Given the description of an element on the screen output the (x, y) to click on. 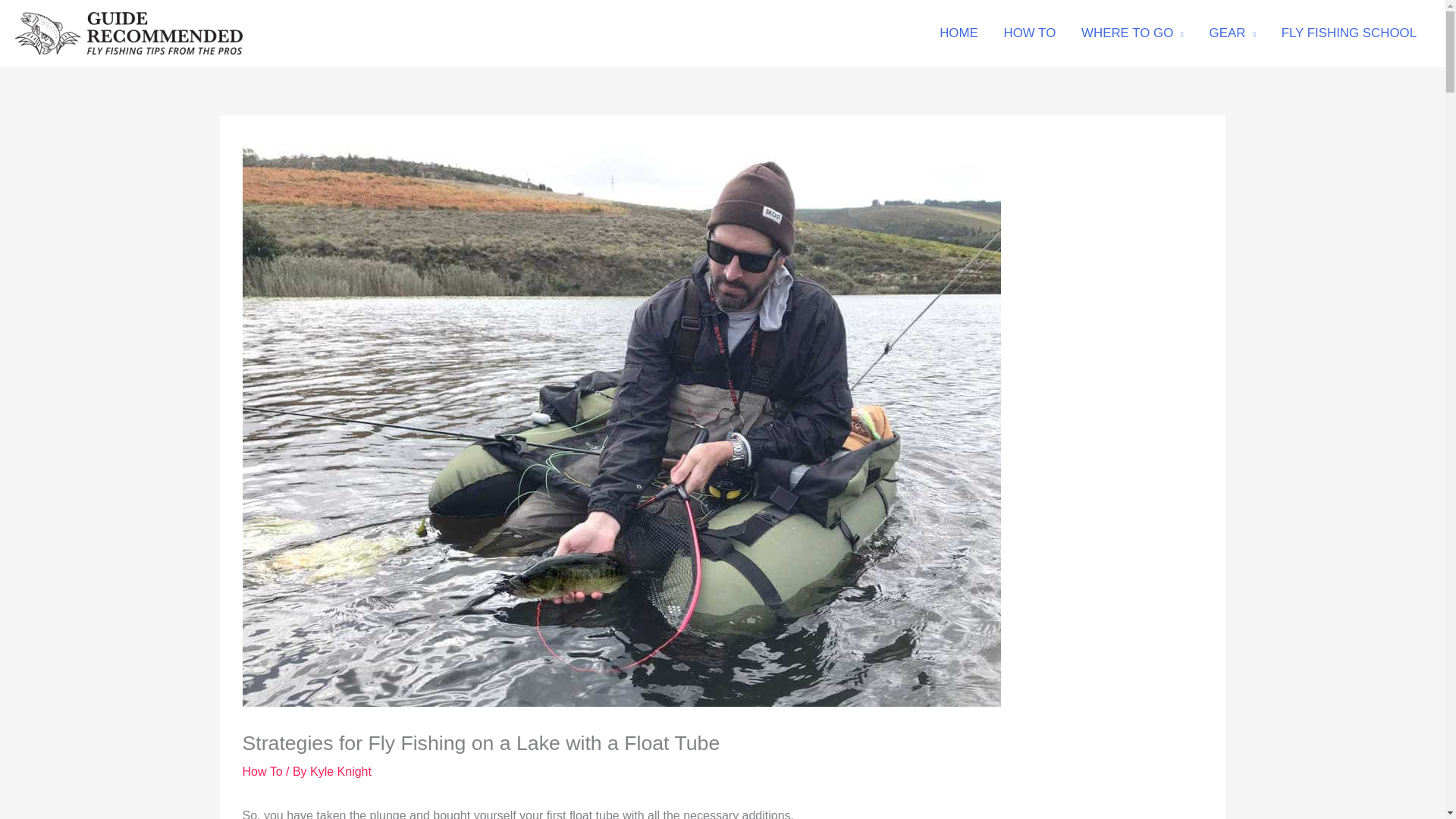
HOW TO (1029, 32)
WHERE TO GO (1132, 32)
GEAR (1232, 32)
Kyle Knight (340, 771)
How To (262, 771)
View all posts by Kyle Knight (340, 771)
HOME (958, 32)
FLY FISHING SCHOOL (1348, 32)
